Given the description of an element on the screen output the (x, y) to click on. 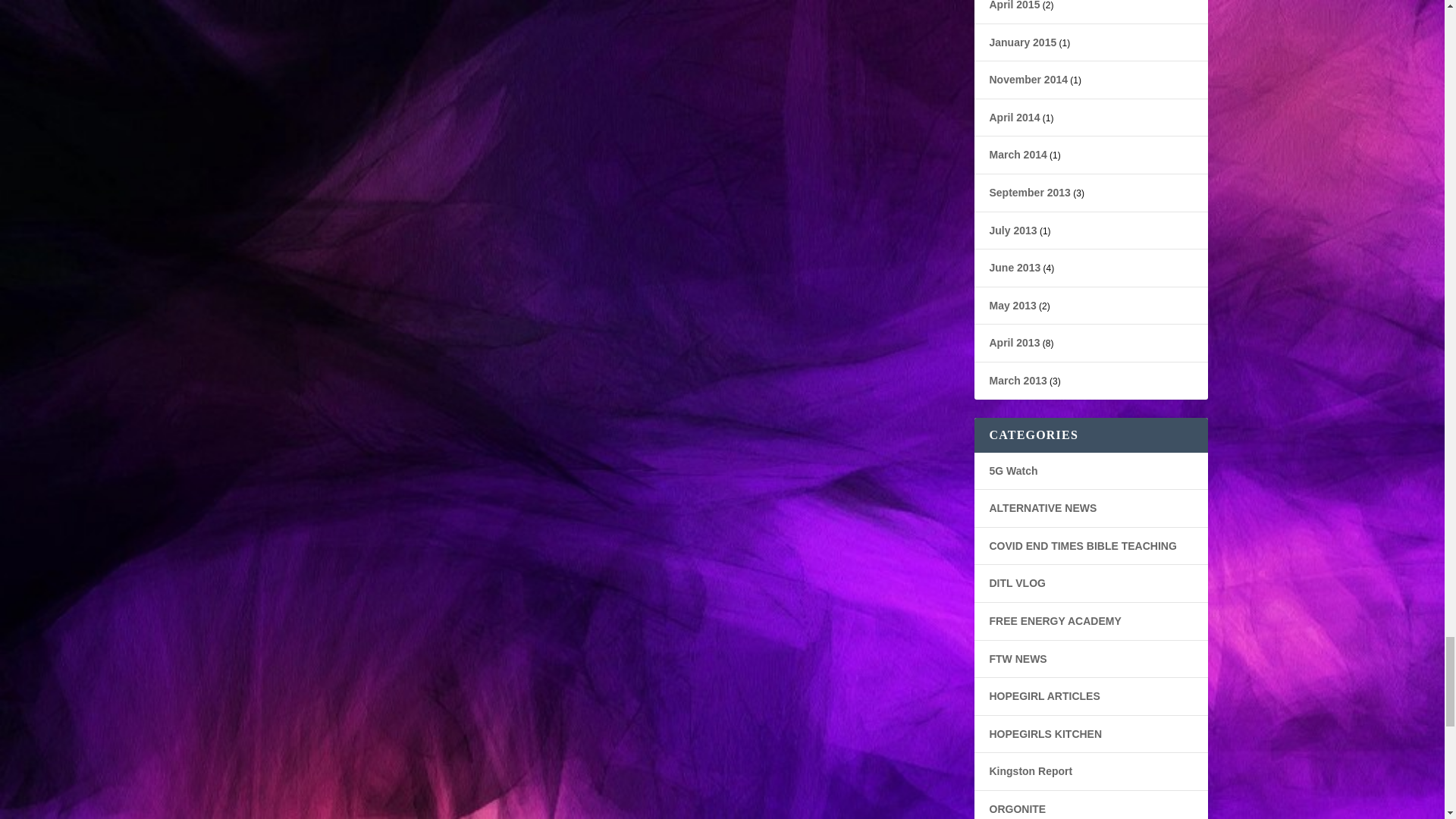
Latest updates from the Fix the World Organization (1017, 658)
